Given the description of an element on the screen output the (x, y) to click on. 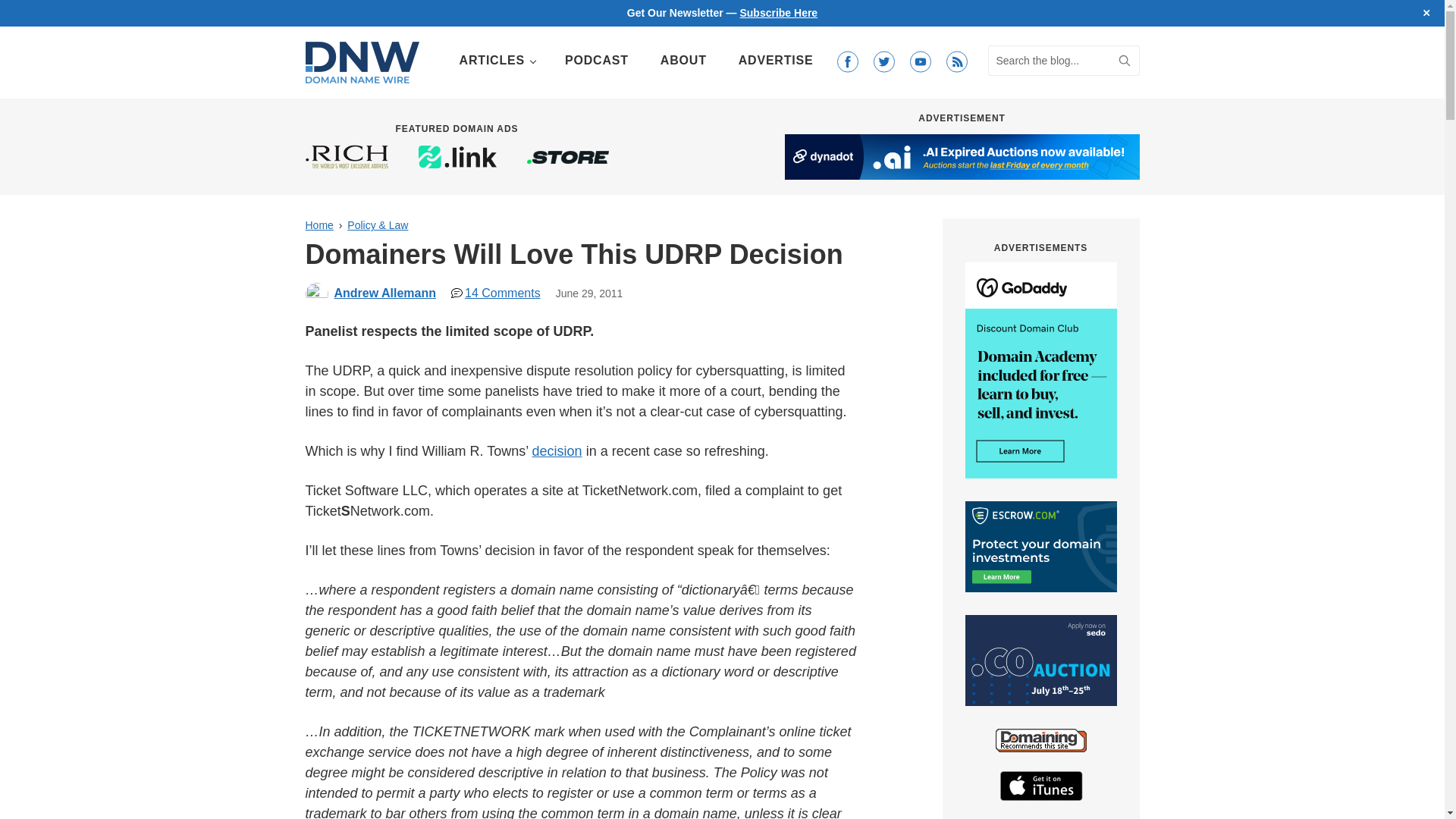
Subscribe Here (777, 12)
decision (557, 450)
Submit search (1123, 60)
ARTICLES (495, 60)
Submit search (1123, 60)
14 Comments (495, 292)
ABOUT (683, 60)
PODCAST (596, 60)
Home (318, 224)
Submit search (1123, 60)
Andrew Allemann (384, 292)
ADVERTISE (775, 60)
